Given the description of an element on the screen output the (x, y) to click on. 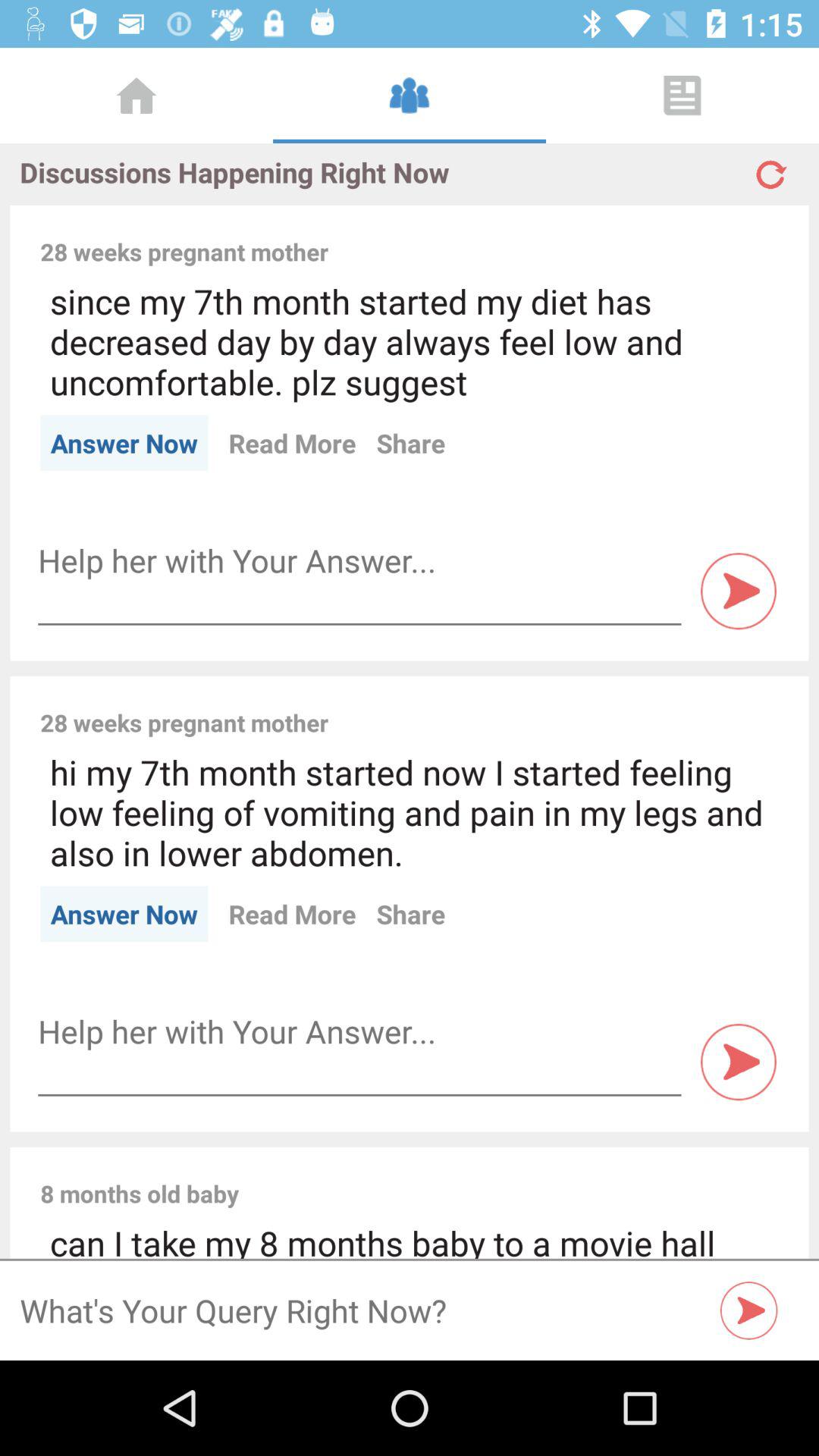
advance to next post (738, 590)
